Given the description of an element on the screen output the (x, y) to click on. 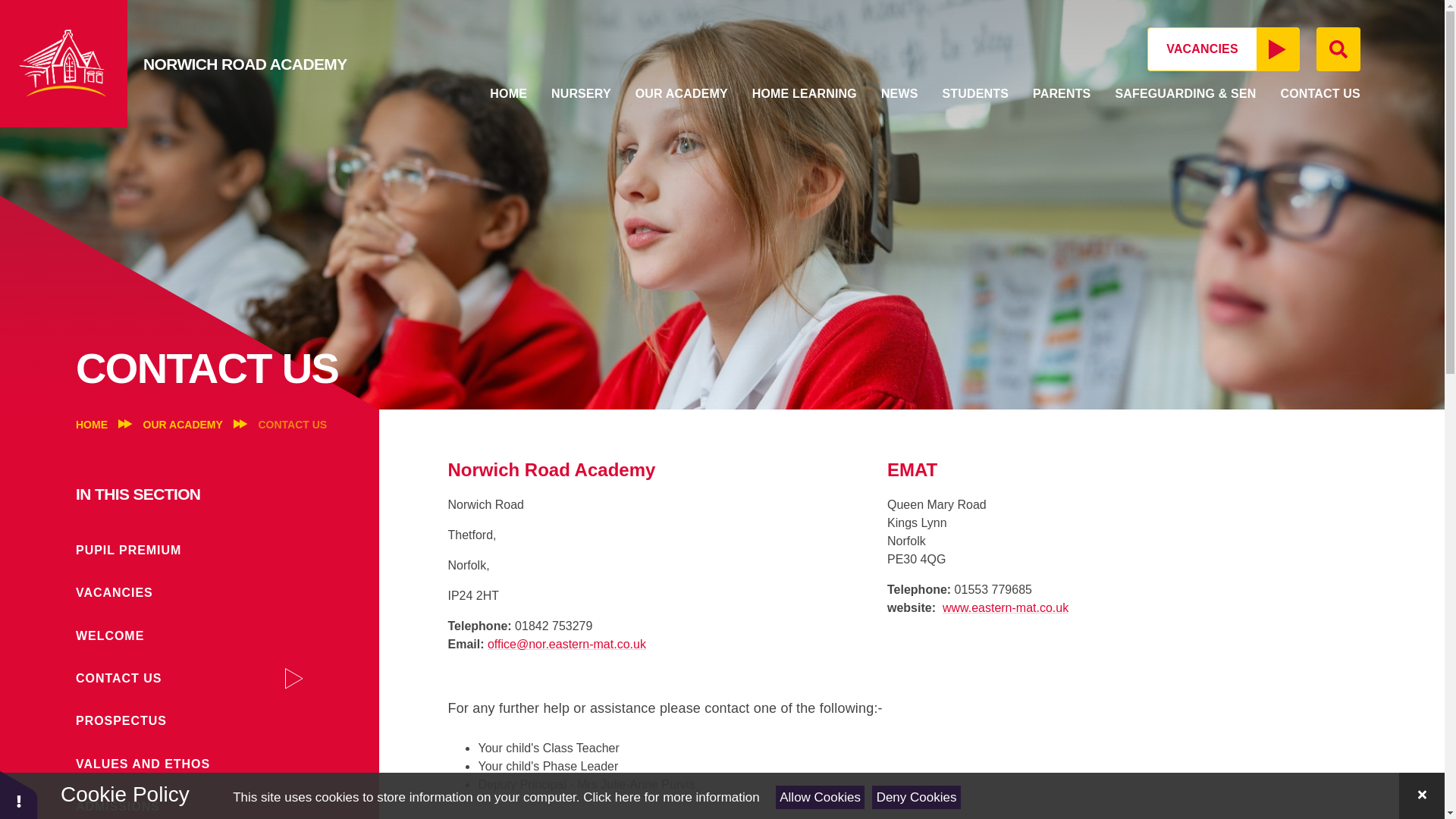
VACANCIES (1223, 49)
Deny Cookies (915, 797)
OUR ACADEMY (681, 91)
HOME (507, 91)
Allow Cookies (820, 797)
NURSERY (580, 91)
See cookie policy (670, 797)
